Given the description of an element on the screen output the (x, y) to click on. 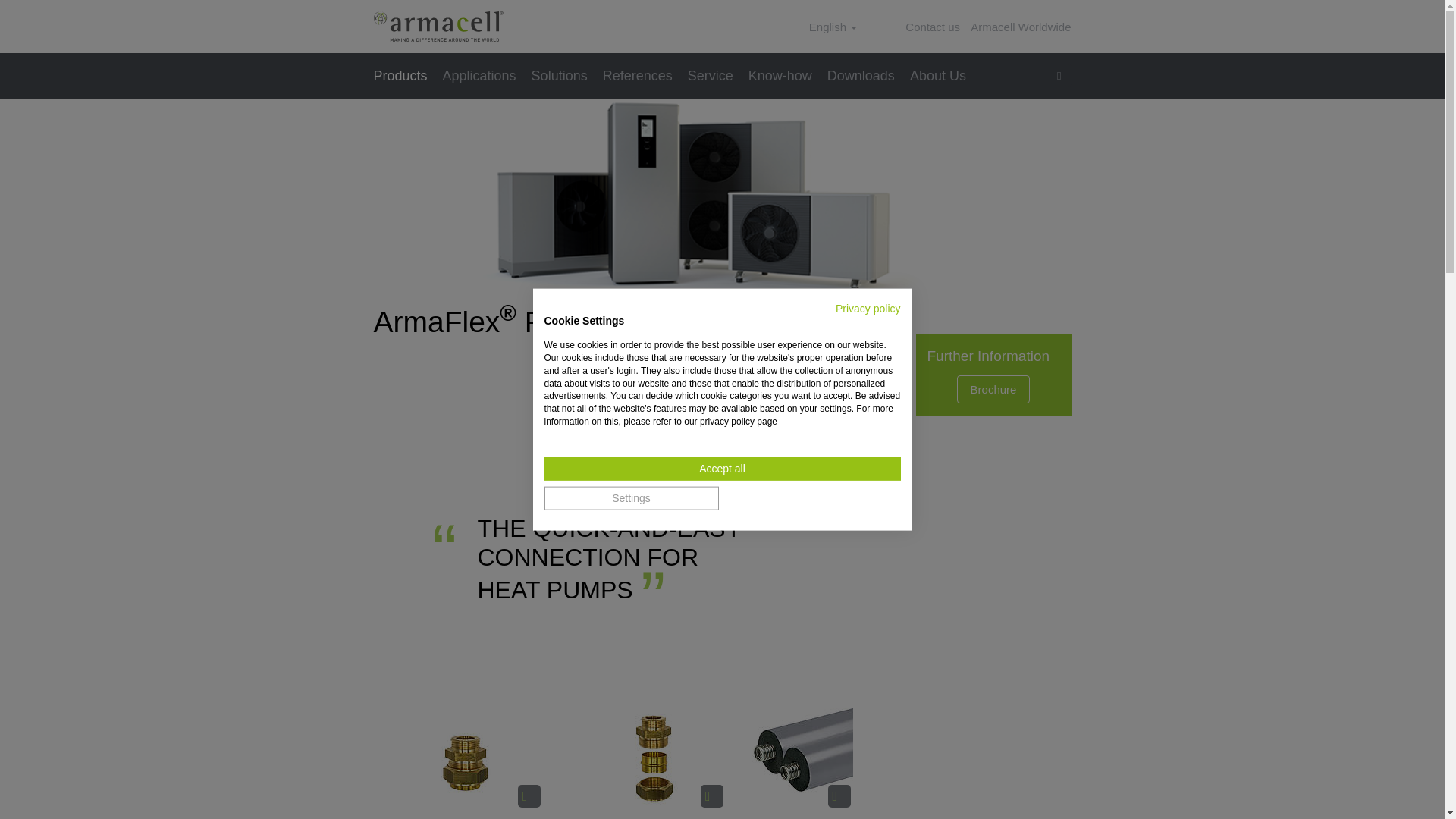
English (833, 26)
Armacell Home (437, 26)
Contact us (932, 26)
Armacell Worldwide (1020, 26)
Products (402, 75)
